Given the description of an element on the screen output the (x, y) to click on. 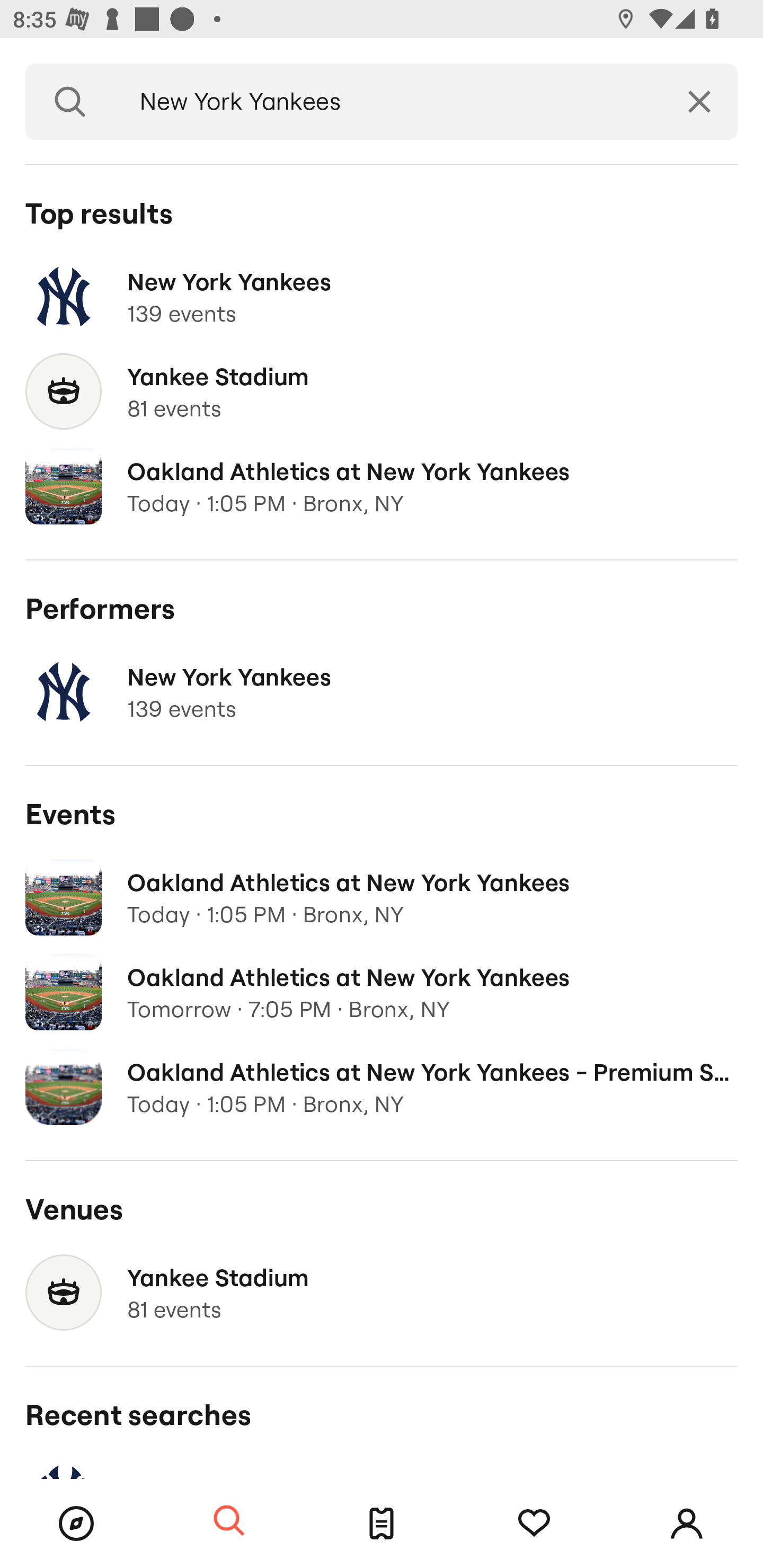
Search (69, 101)
New York Yankees (387, 101)
Clear (699, 101)
New York Yankees 139 events (381, 296)
Yankee Stadium 81 events (381, 391)
New York Yankees 139 events (381, 692)
Yankee Stadium 81 events (381, 1292)
Browse (76, 1523)
Search (228, 1521)
Tickets (381, 1523)
Tracking (533, 1523)
Account (686, 1523)
